Given the description of an element on the screen output the (x, y) to click on. 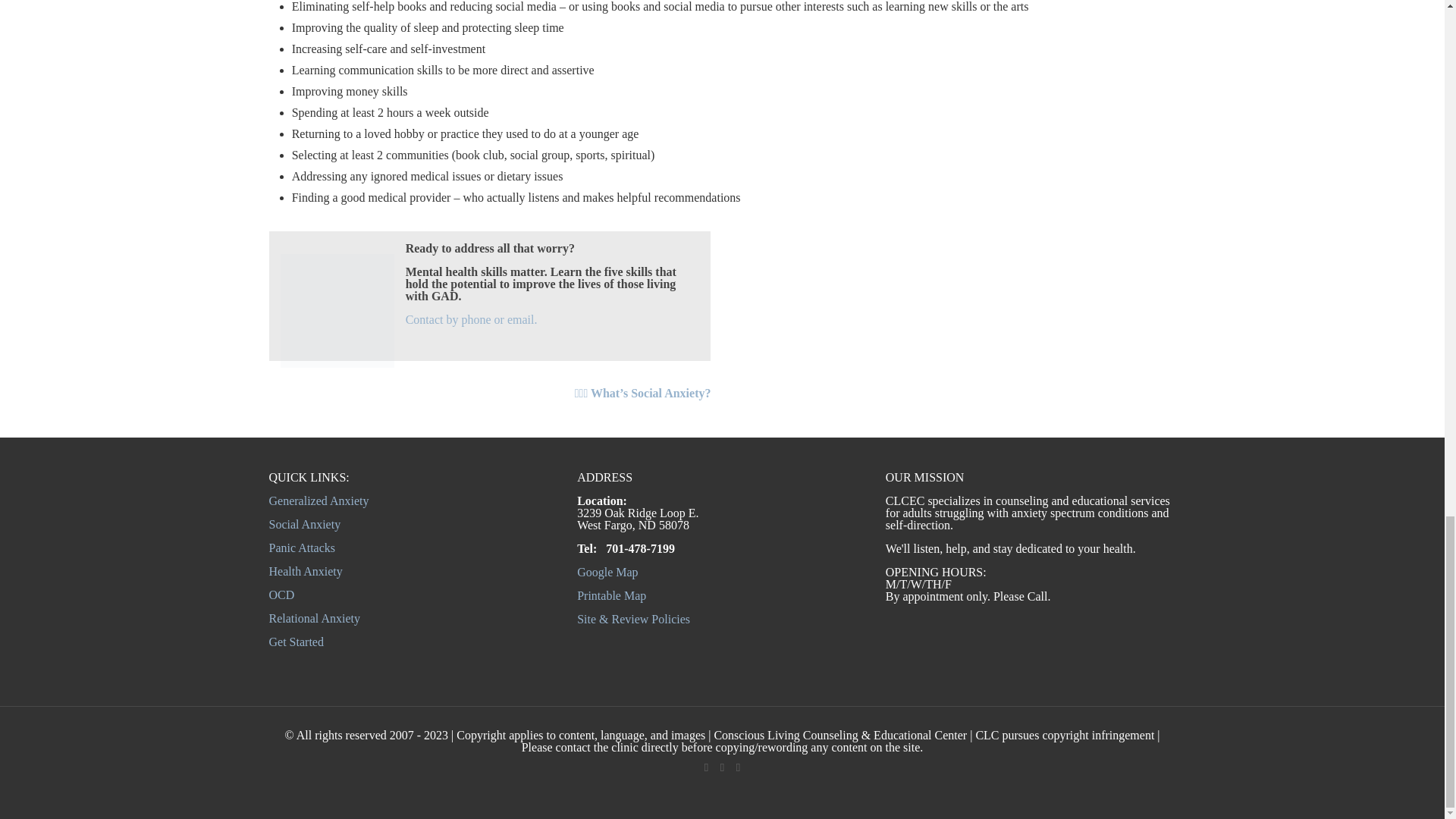
YouTube (722, 767)
Conscious Living Counseling and Education Center (337, 310)
Generalized Anxiety (317, 500)
Printable Map (611, 594)
Contact by phone or email. (471, 318)
Social Anxiety (303, 523)
Instagram (738, 767)
Health Anxiety (304, 571)
Panic Attacks (300, 547)
OCD (280, 594)
